Given the description of an element on the screen output the (x, y) to click on. 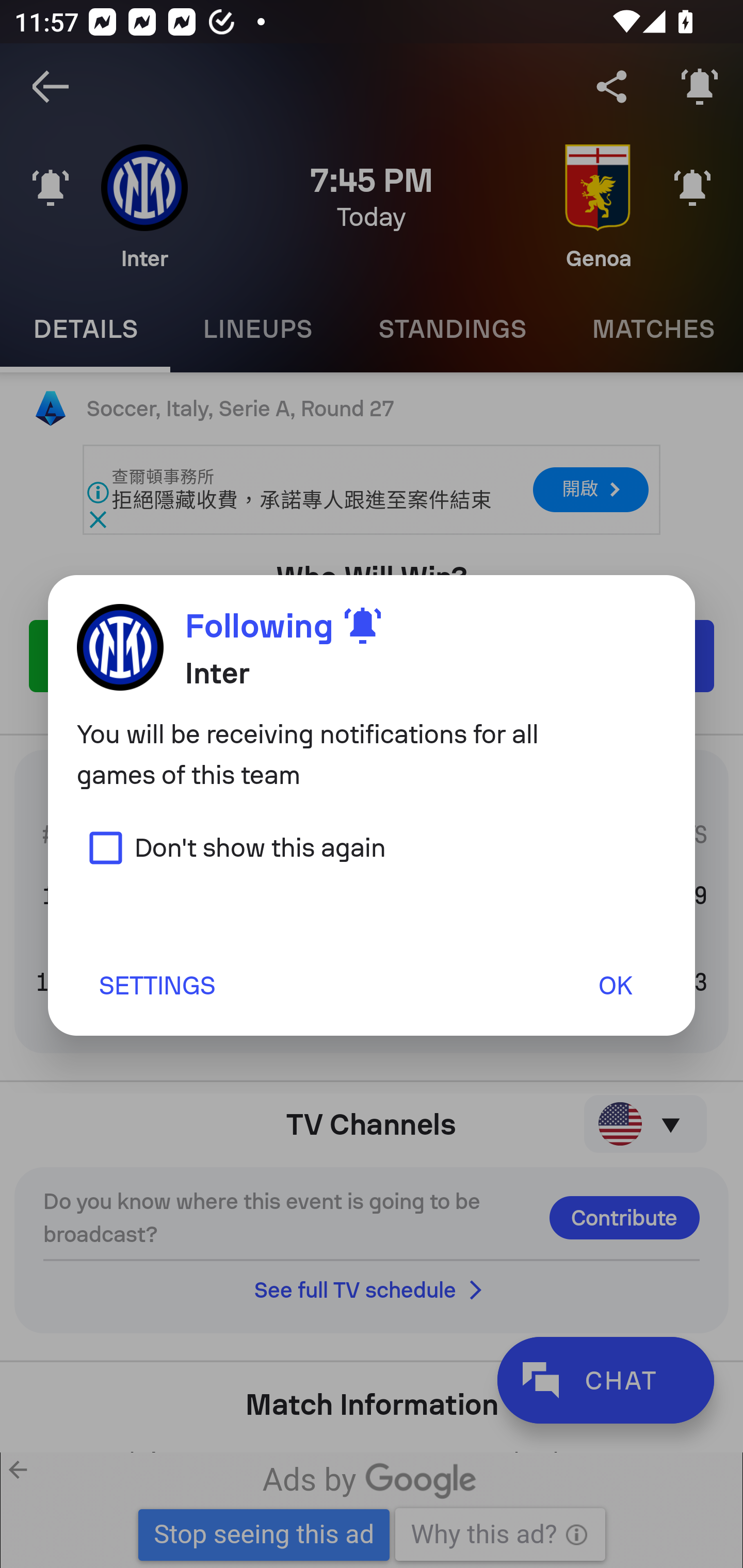
Don't show this again (231, 847)
SETTINGS (156, 985)
OK (615, 985)
